Given the description of an element on the screen output the (x, y) to click on. 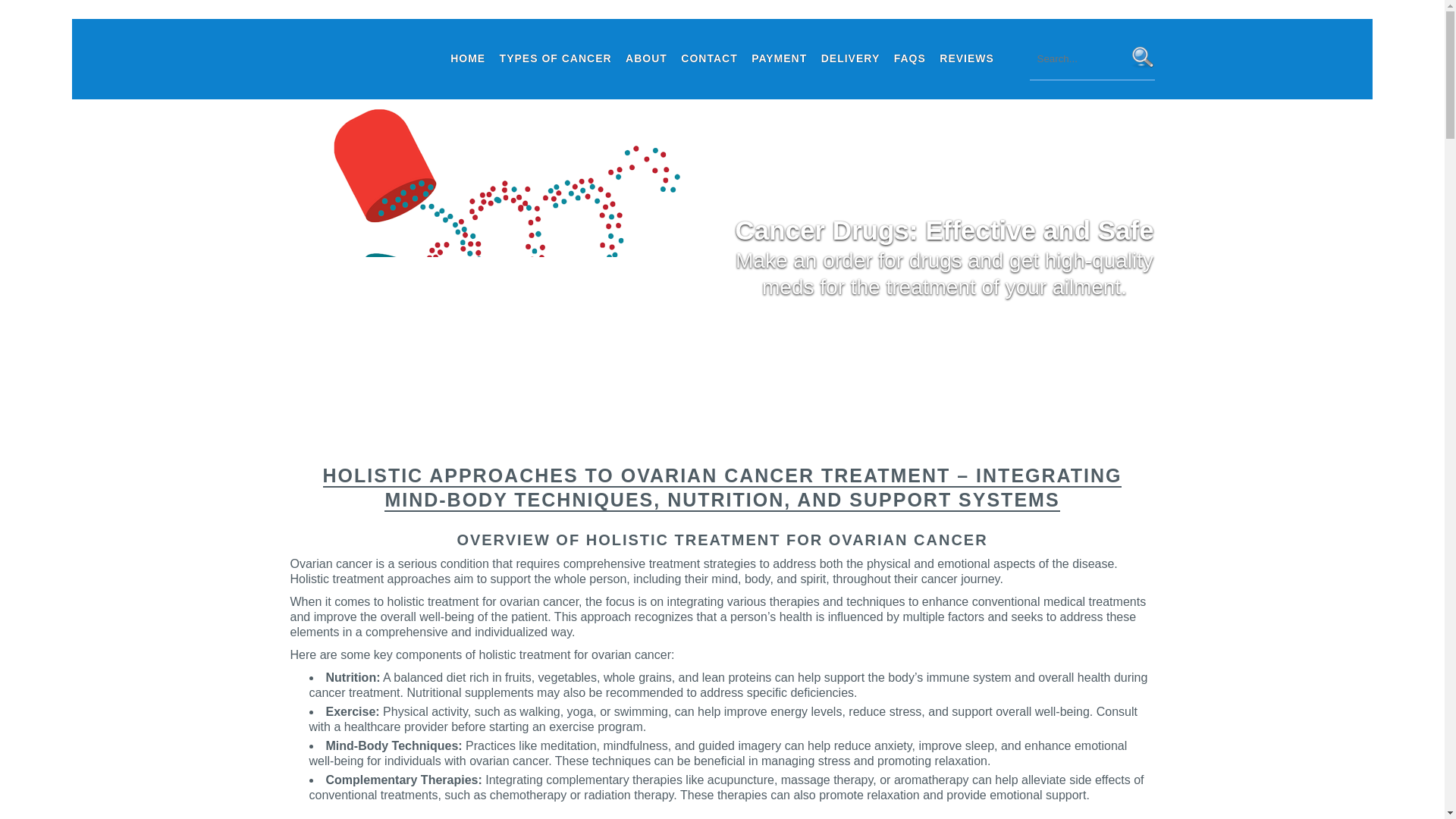
HOME (467, 58)
TYPES OF CANCER (556, 58)
ABOUT (646, 58)
REVIEWS (966, 58)
FAQS (909, 58)
PAYMENT (778, 58)
CONTACT (708, 58)
DELIVERY (850, 58)
